Given the description of an element on the screen output the (x, y) to click on. 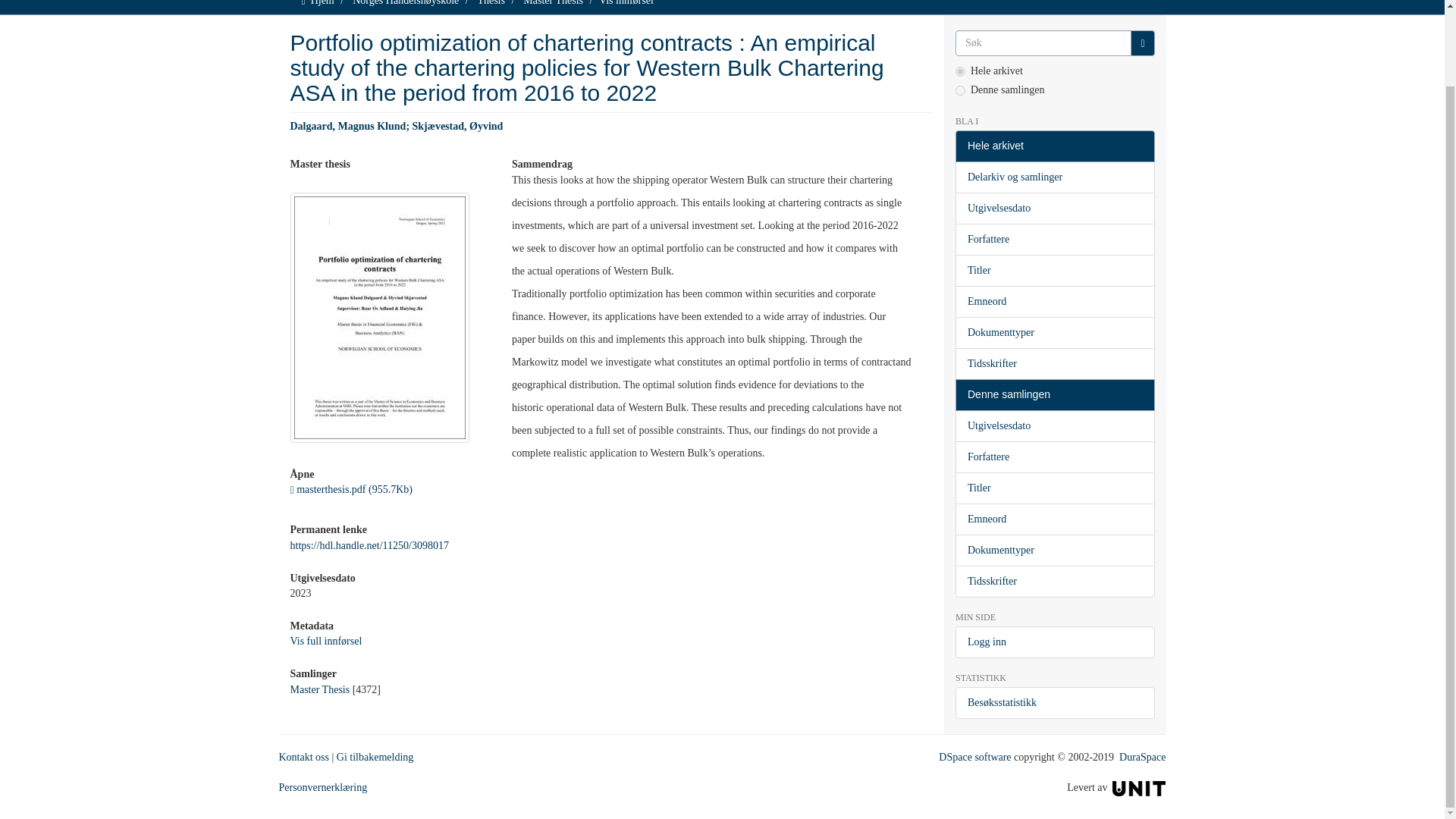
Forfattere (1054, 239)
Delarkiv og samlinger (1054, 177)
Master Thesis (319, 689)
Hele arkivet (1054, 146)
Dalgaard, Magnus Klund (347, 125)
Titler (1054, 270)
Master Thesis (552, 2)
Utgivelsesdato (1054, 208)
Hjem (322, 2)
Unit (1139, 787)
